Given the description of an element on the screen output the (x, y) to click on. 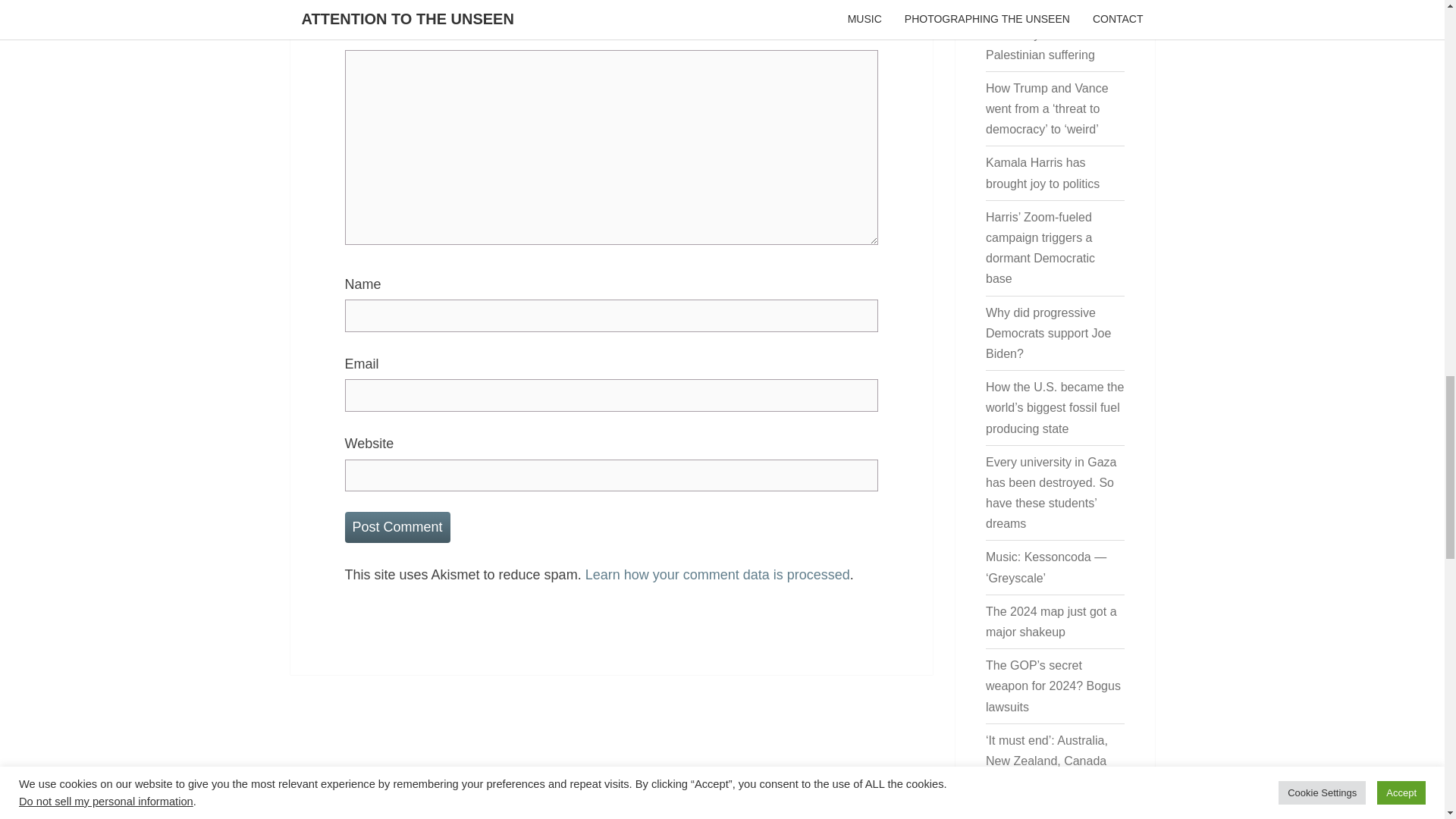
Post Comment (396, 526)
Learn how your comment data is processed (717, 574)
Kamala Harris has brought joy to politics (1042, 172)
Post Comment (396, 526)
